Given the description of an element on the screen output the (x, y) to click on. 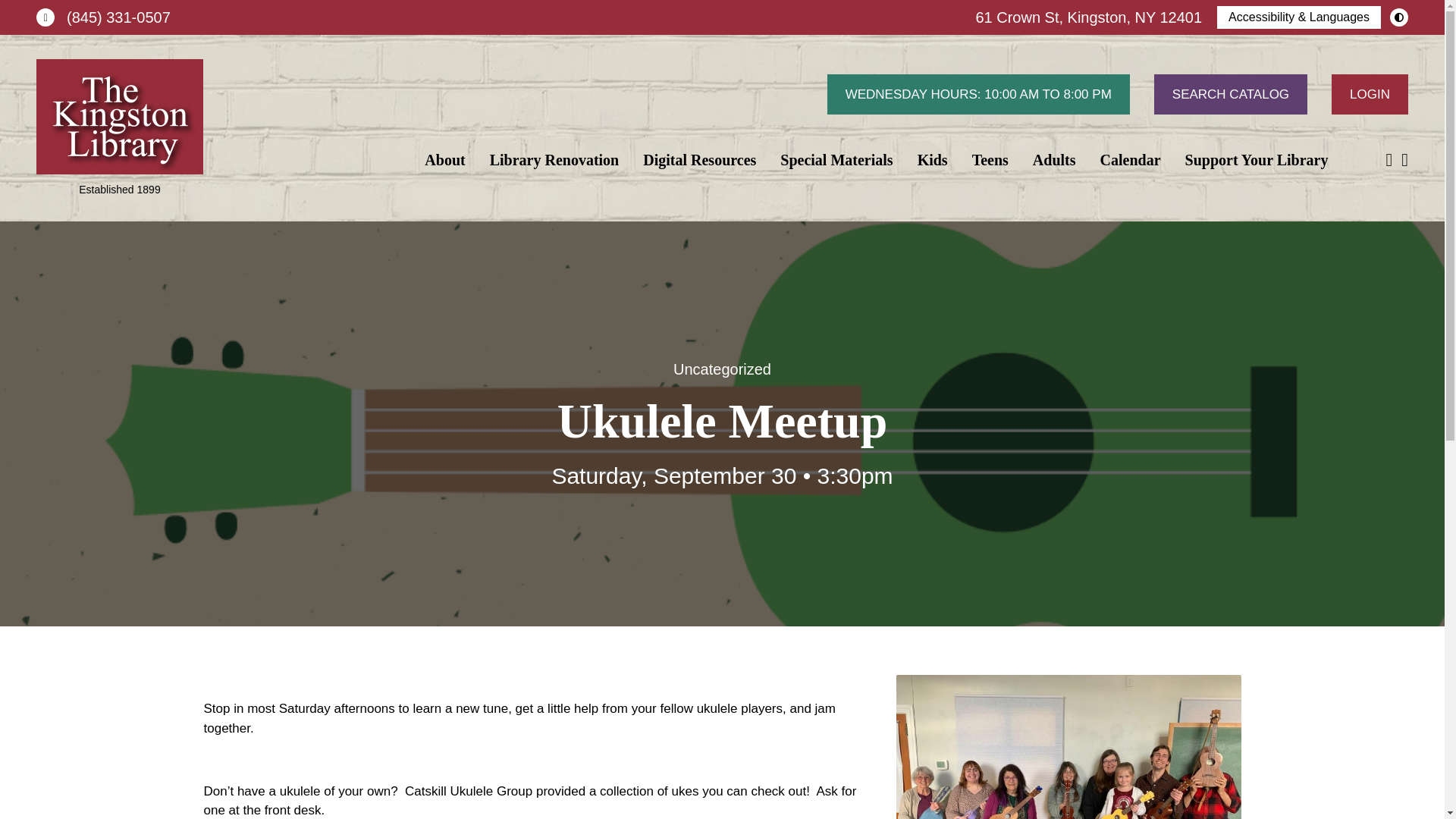
LOGIN (1369, 94)
Toggle High Contrast Mode (1398, 17)
Kingston Library (119, 116)
Instagram (1403, 159)
Digital Resources (699, 159)
About (444, 159)
Facebook (1388, 159)
Library Renovation (554, 159)
SEARCH CATALOG (1230, 94)
WEDNESDAY HOURS: 10:00 AM TO 8:00 PM (978, 94)
Toggle High Contrast Mode (1398, 17)
